Given the description of an element on the screen output the (x, y) to click on. 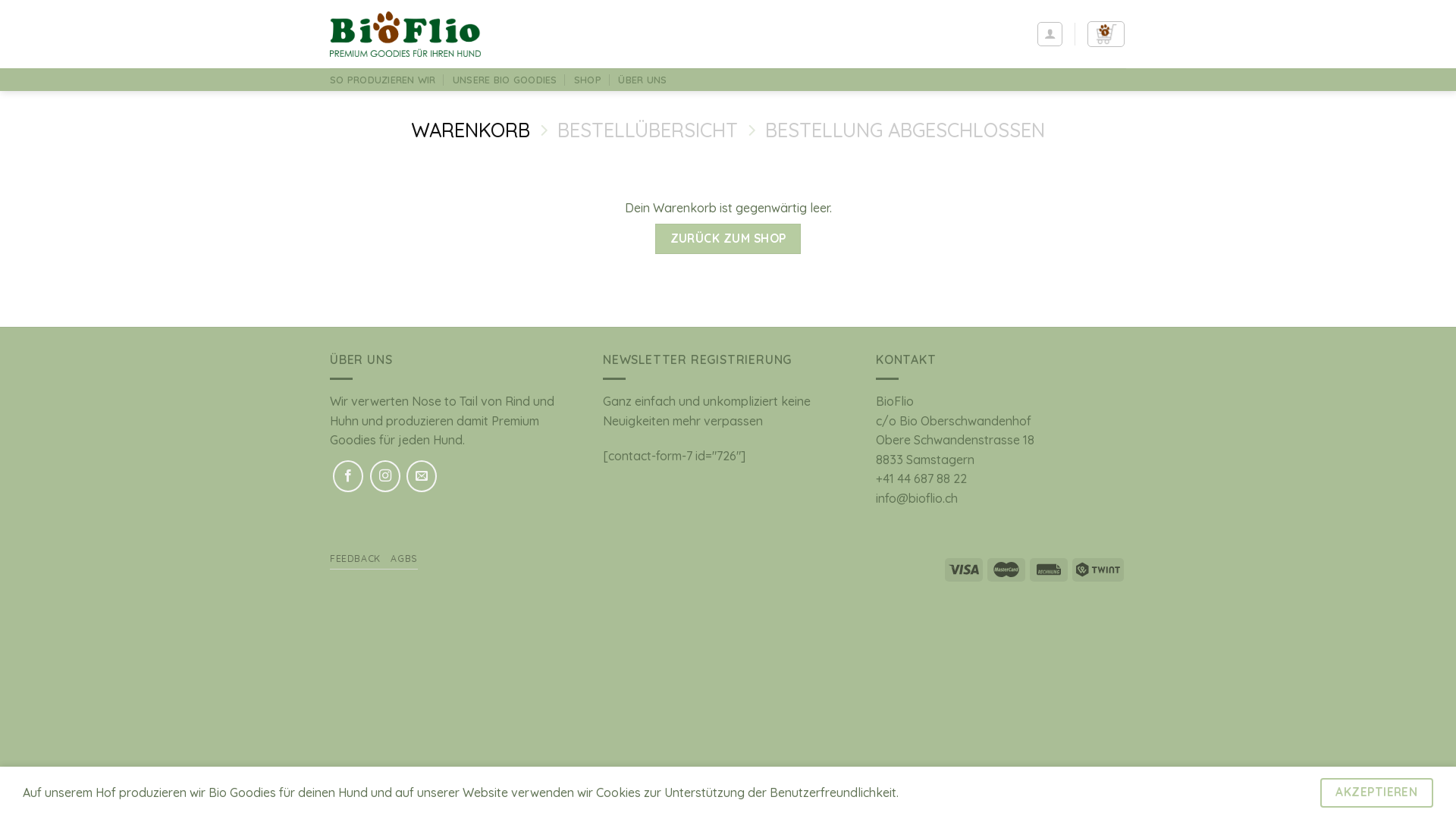
Sende uns eine E-Mail Element type: hover (421, 476)
AGBS Element type: text (403, 558)
SHOP Element type: text (587, 79)
Warenkorb Element type: hover (1105, 34)
BESTELLUNG ABGESCHLOSSEN Element type: text (904, 129)
Auf Facebook folgen Element type: hover (347, 476)
Auf Instagram folgen Element type: hover (385, 476)
AKZEPTIEREN Element type: text (1376, 792)
UNSERE BIO GOODIES Element type: text (504, 79)
FEEDBACK Element type: text (354, 558)
WARENKORB Element type: text (470, 129)
BioFlio - BioGoodies direkt vom Hof Element type: hover (404, 33)
SO PRODUZIEREN WIR Element type: text (382, 79)
